Given the description of an element on the screen output the (x, y) to click on. 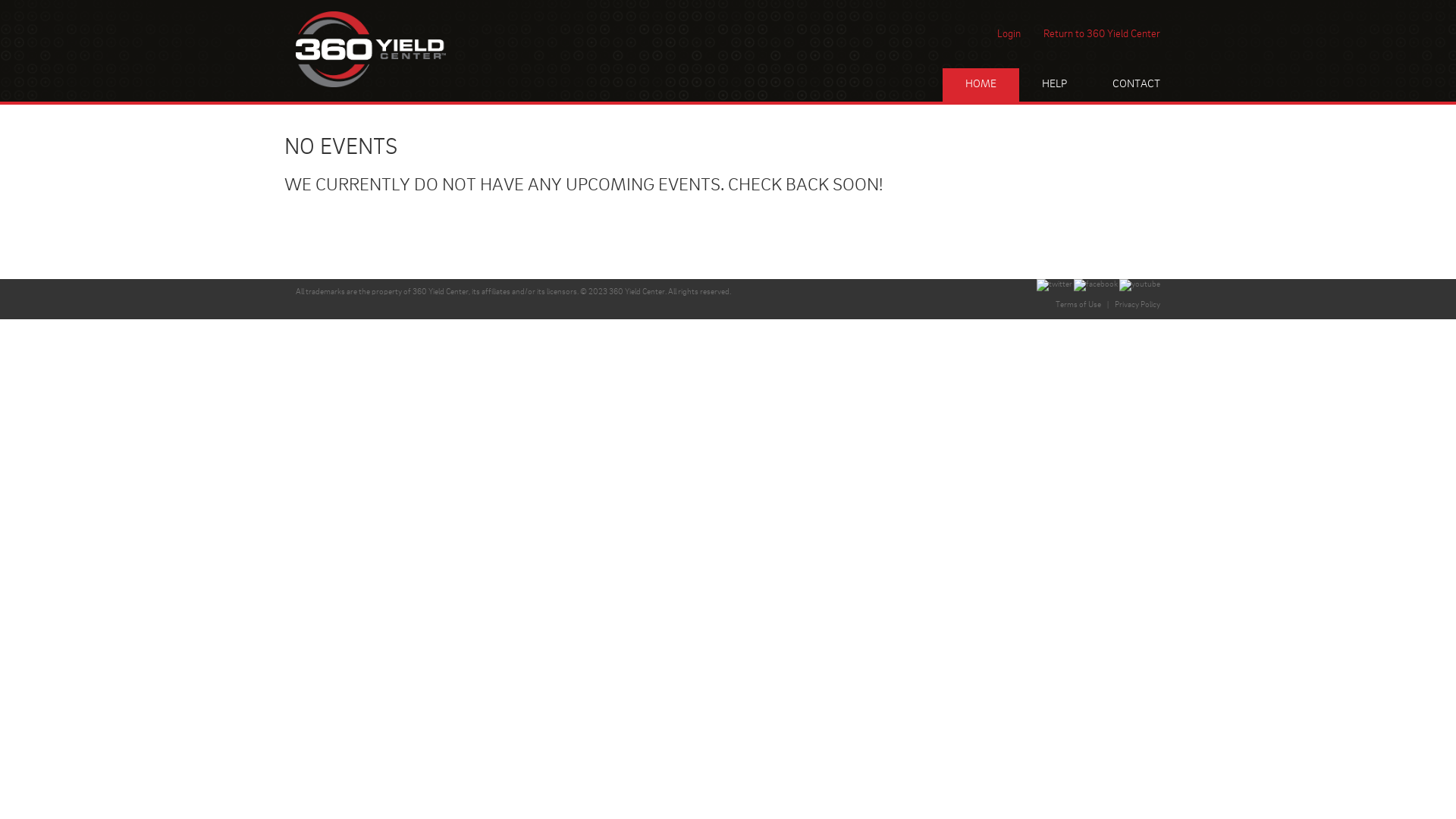
Login Element type: text (1008, 34)
Terms of Use Element type: text (1078, 305)
CONTACT Element type: text (1136, 84)
HELP Element type: text (1054, 84)
Return to 360 Yield Center Element type: text (1101, 34)
Privacy Policy Element type: text (1137, 305)
HOME Element type: text (980, 84)
